Given the description of an element on the screen output the (x, y) to click on. 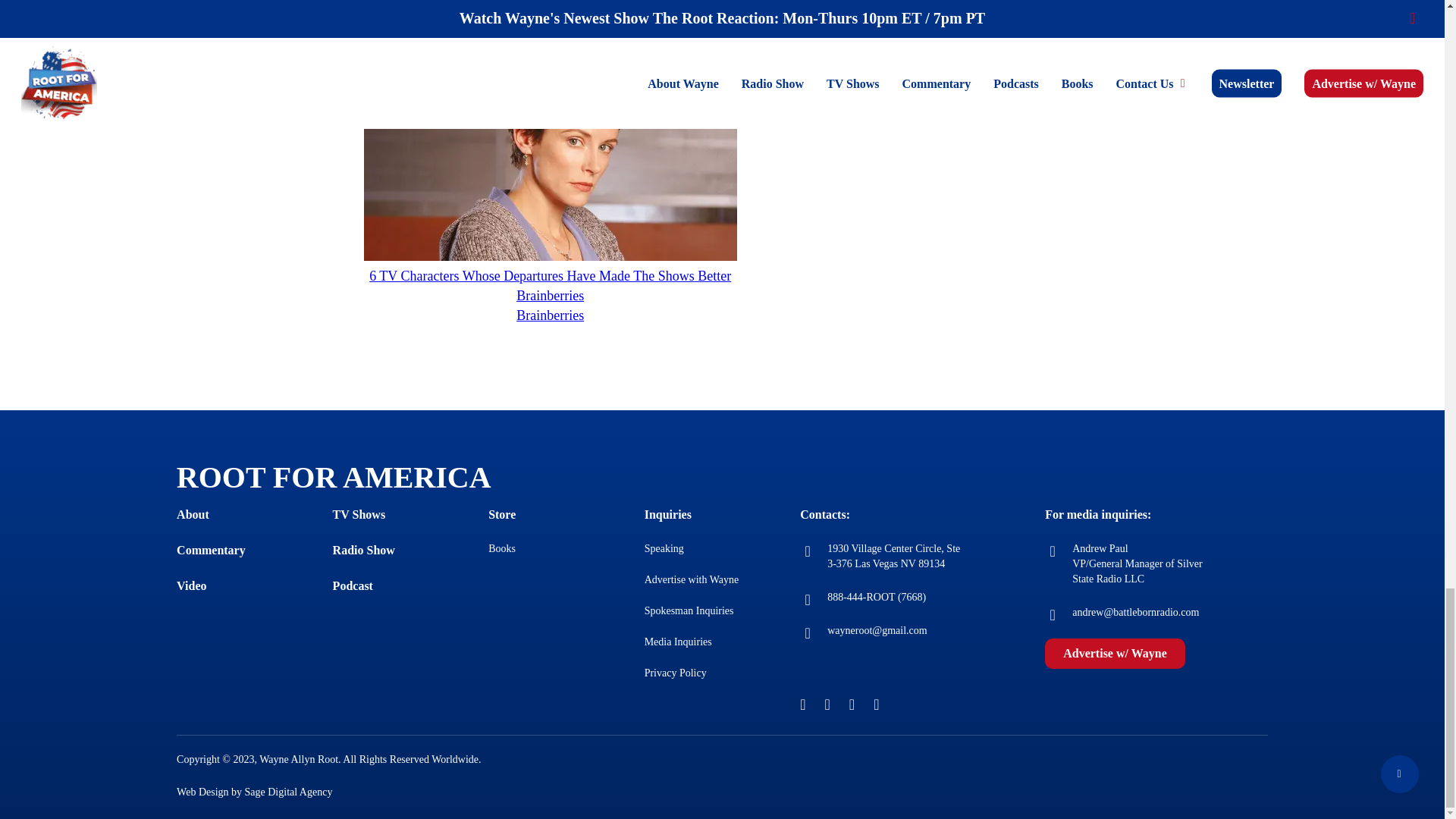
Store (501, 513)
Advertise with Wayne (692, 579)
Books (501, 548)
Podcast (352, 585)
Radio Show (363, 549)
Spokesman Inquiries (689, 610)
Media Inquiries (678, 641)
Video (191, 585)
Video (191, 585)
Store (501, 513)
